Given the description of an element on the screen output the (x, y) to click on. 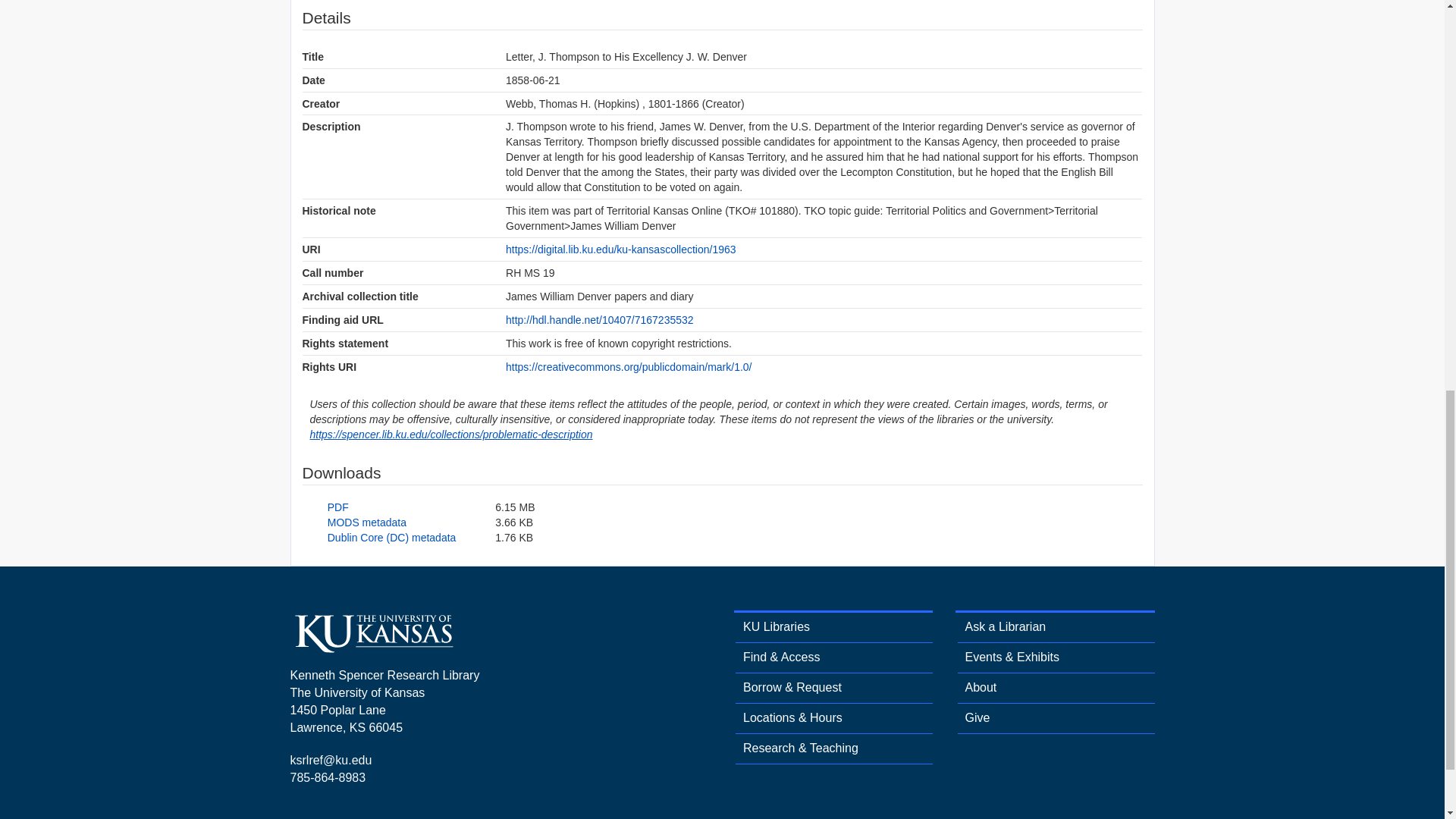
785-864-8983 (327, 777)
PDF (338, 507)
MODS metadata (366, 522)
